Given the description of an element on the screen output the (x, y) to click on. 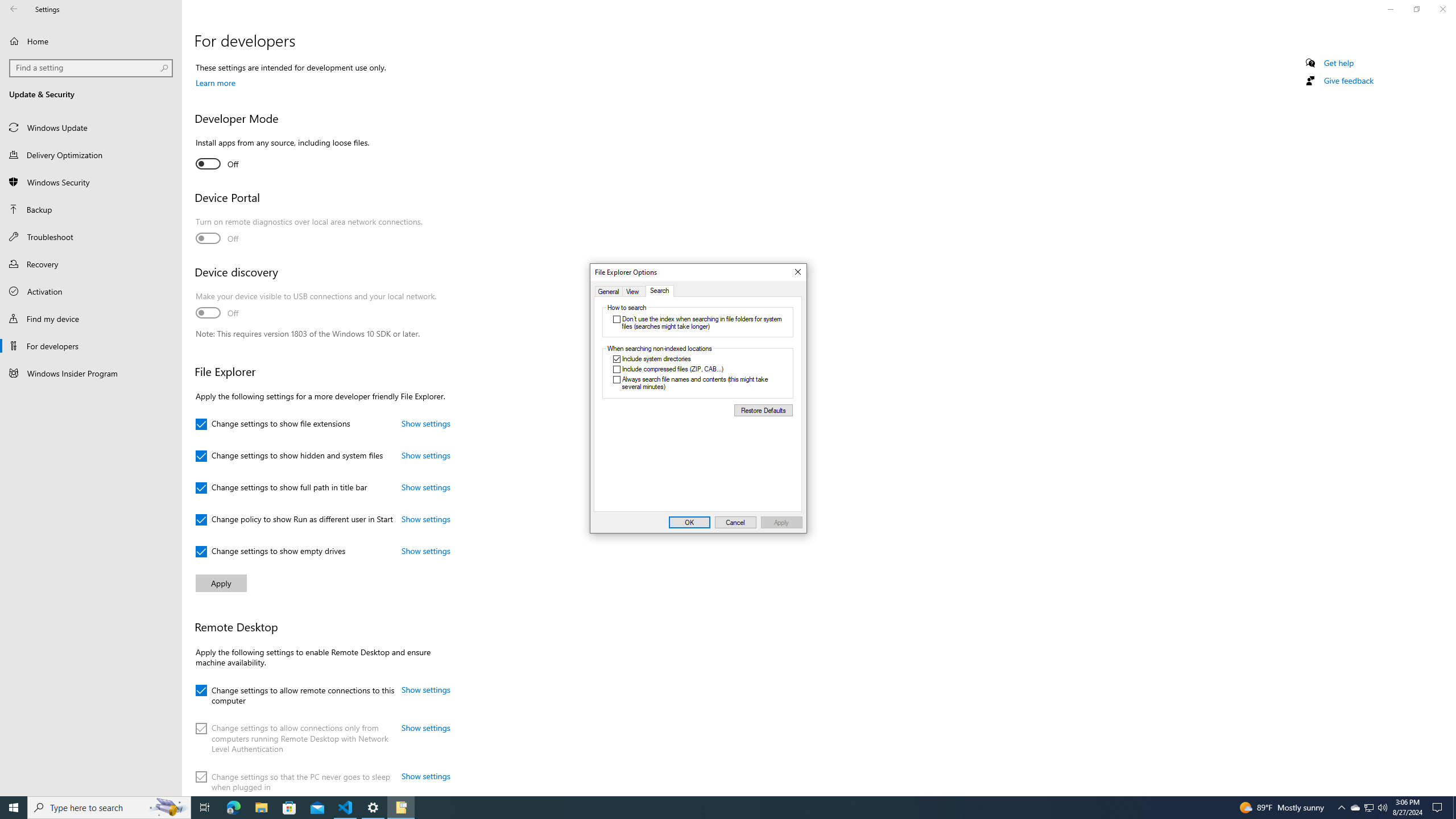
Show desktop (1454, 807)
Microsoft Edge (233, 807)
User Promoted Notification Area (1368, 807)
Start (1355, 807)
Apply (13, 807)
Q2790: 100% (781, 522)
Notification Chevron (1382, 807)
Close (1341, 807)
Search highlights icon opens search home window (796, 271)
View (167, 807)
File Explorer Options - 1 running window (634, 290)
Include system directories (400, 807)
